Given the description of an element on the screen output the (x, y) to click on. 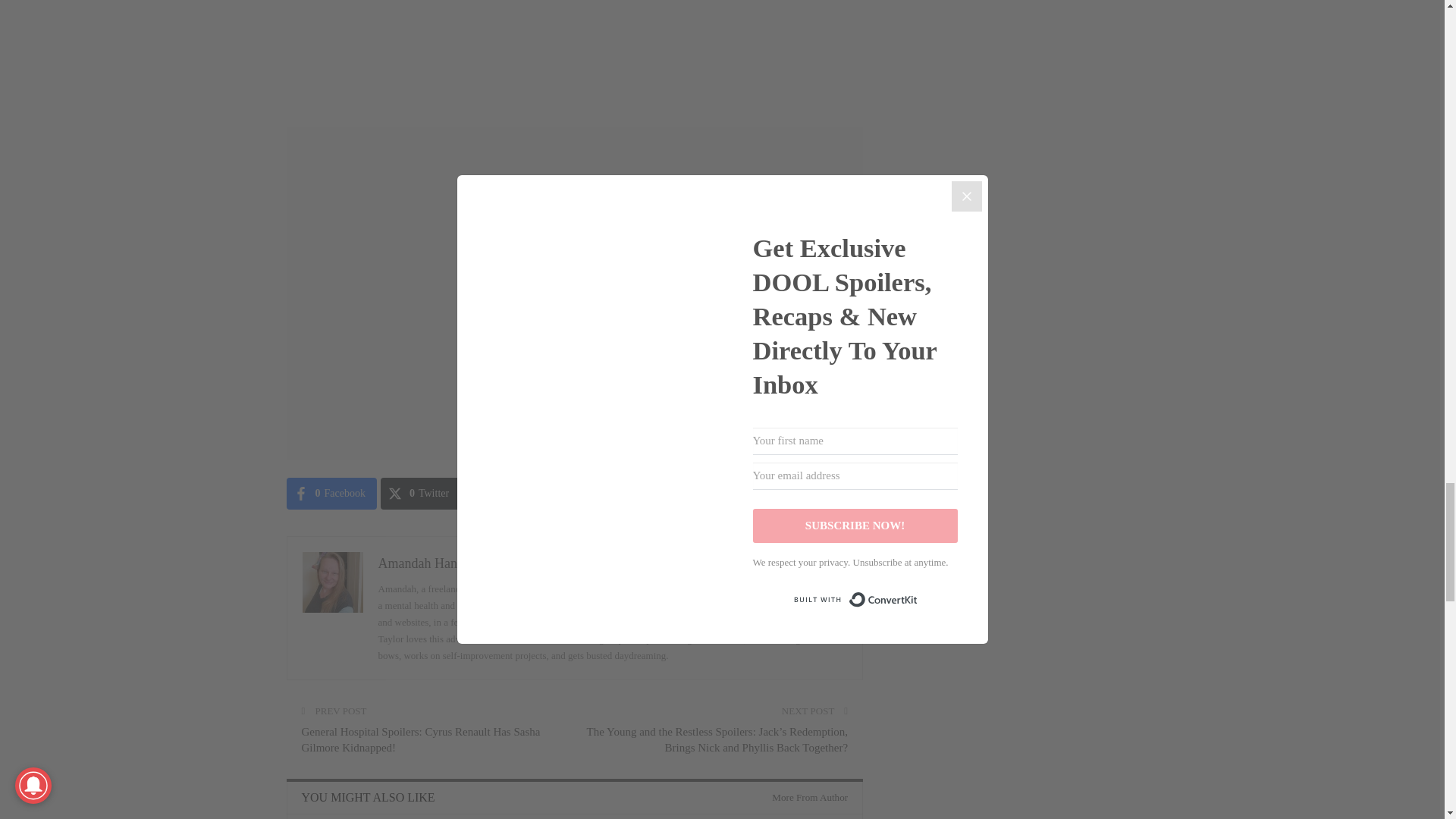
Share on Facebook (331, 493)
Share on LinkedIn (598, 493)
Share on Twitter (420, 493)
Total (667, 493)
Share on Pinterest (507, 493)
